Given the description of an element on the screen output the (x, y) to click on. 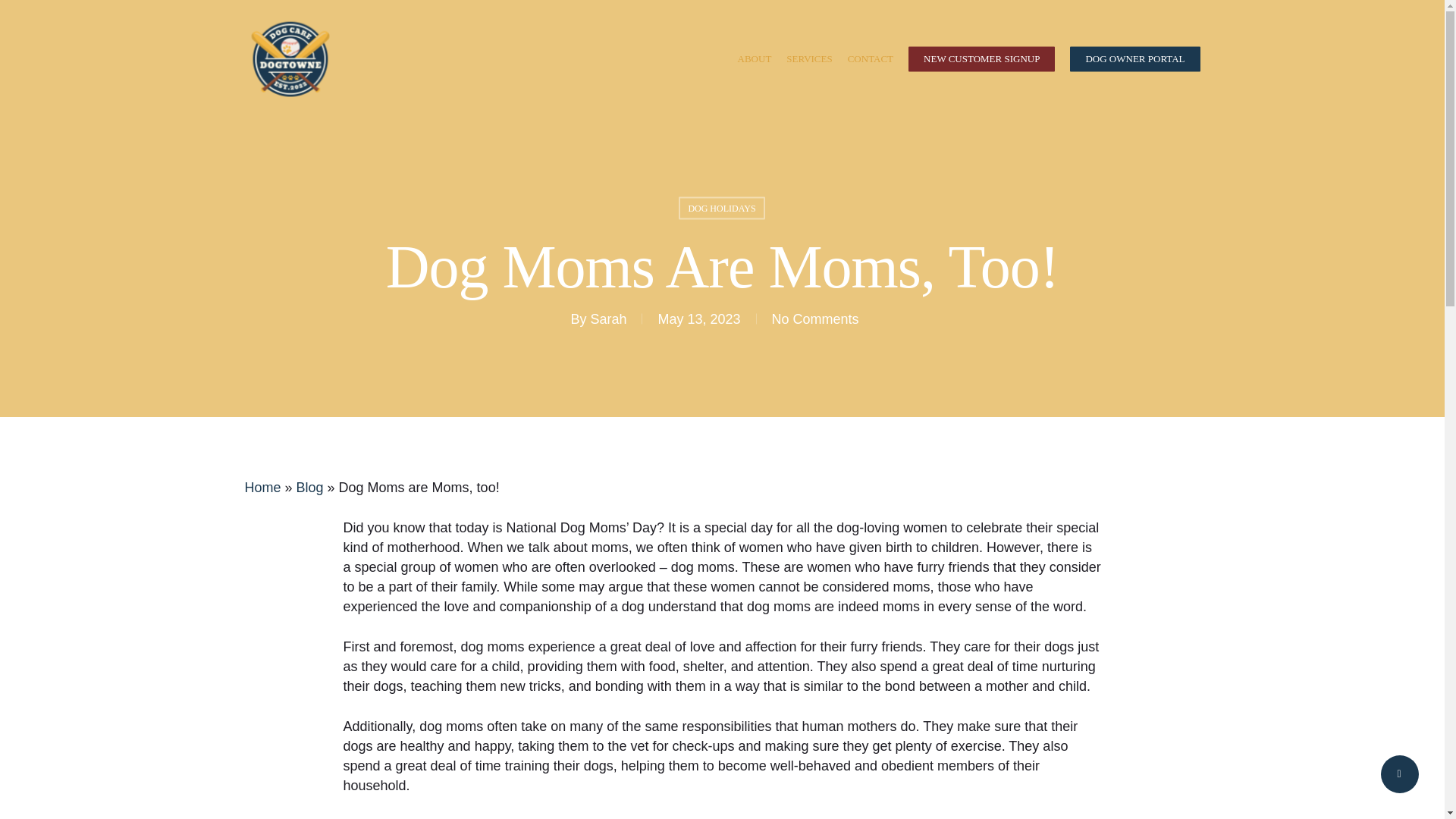
ABOUT (754, 59)
DOG OWNER PORTAL (1134, 59)
Home (262, 487)
Blog (310, 487)
SERVICES (809, 59)
NEW CUSTOMER SIGNUP (981, 59)
Sarah (607, 318)
No Comments (815, 318)
DOG HOLIDAYS (721, 208)
CONTACT (870, 59)
